Given the description of an element on the screen output the (x, y) to click on. 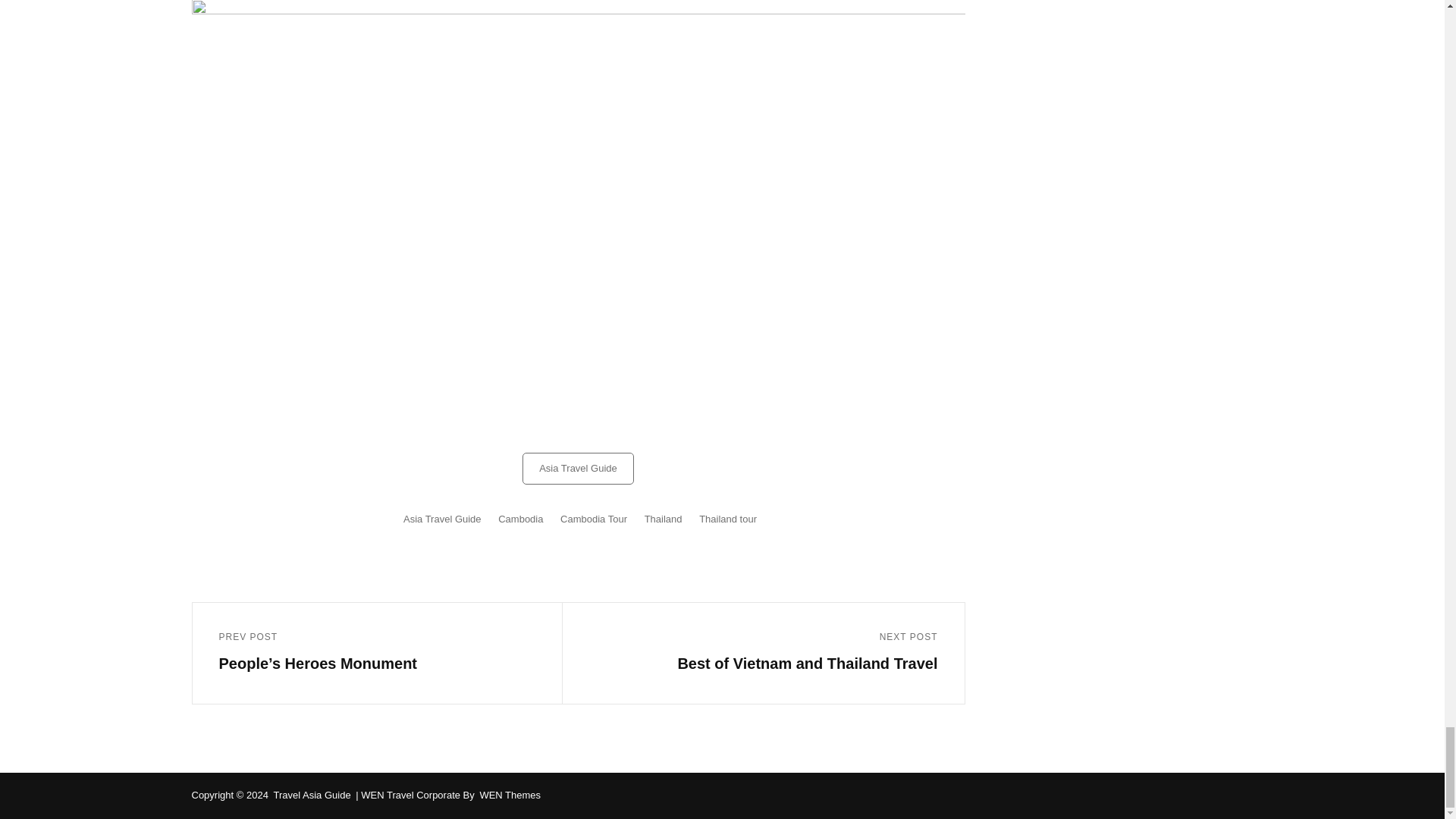
Thailand tour (778, 653)
Cambodia Tour (727, 519)
Cambodia (593, 519)
Thailand (520, 519)
Asia Travel Guide (663, 519)
Asia Travel Guide (577, 468)
